Given the description of an element on the screen output the (x, y) to click on. 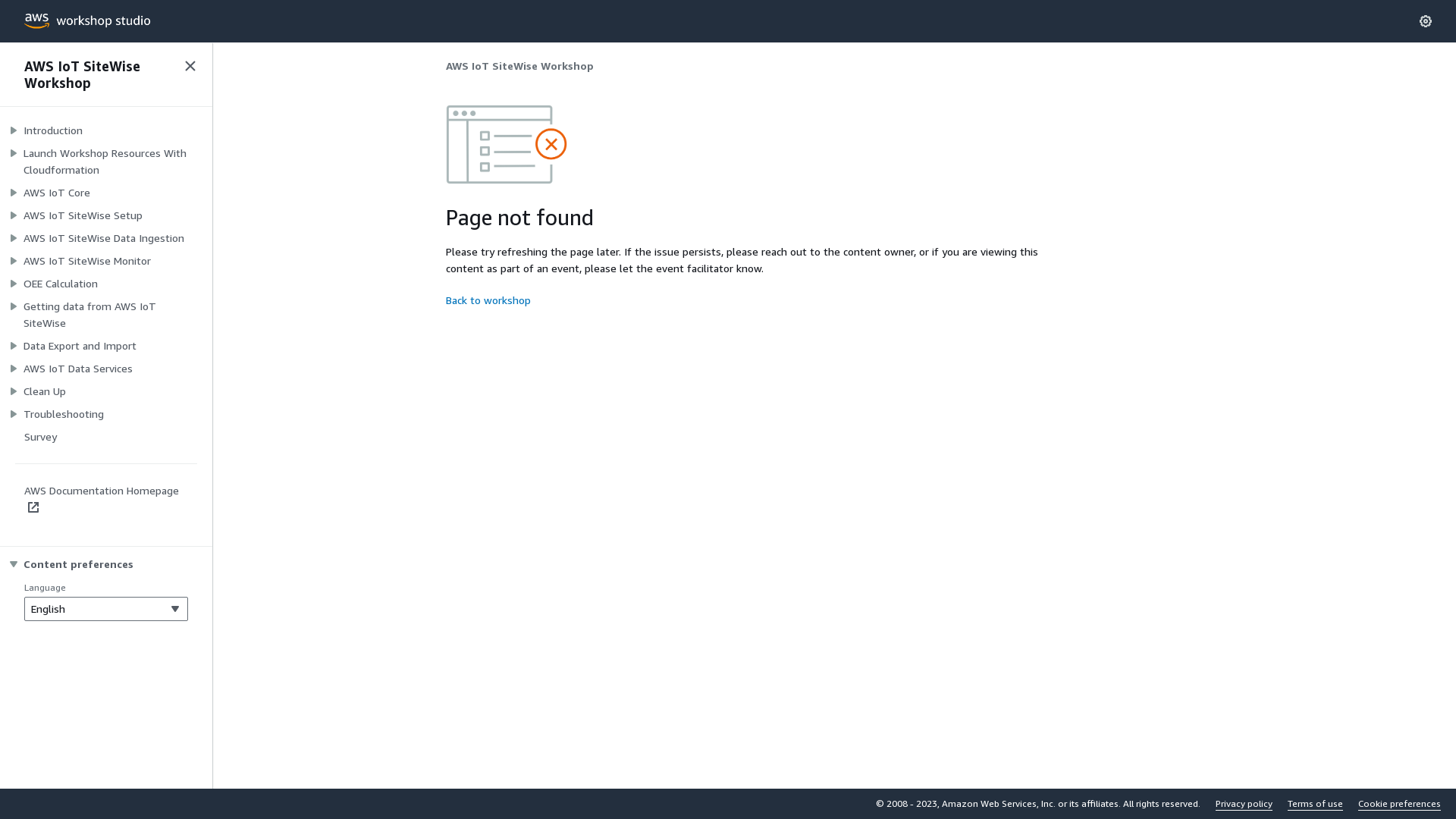
Data Export and Import Element type: text (79, 345)
Privacy policy Element type: text (1243, 803)
Survey Element type: text (40, 435)
Cookie preferences Element type: text (1399, 803)
Launch Workshop Resources With Cloudformation Element type: text (105, 161)
AWS IoT SiteWise Workshop Element type: text (96, 74)
AWS IoT SiteWise Monitor Element type: text (86, 260)
Getting data from AWS IoT SiteWise Element type: text (105, 314)
Back to workshop Element type: text (487, 299)
Clean Up Element type: text (44, 390)
AWS IoT SiteWise Setup Element type: text (82, 215)
Introduction Element type: text (52, 130)
English Element type: text (106, 608)
OEE Calculation Element type: text (60, 283)
AWS Documentation Homepage Element type: text (101, 498)
AWS IoT SiteWise Data Ingestion Element type: text (103, 237)
Terms of use Element type: text (1315, 803)
Troubleshooting Element type: text (63, 413)
AWS IoT Core Element type: text (56, 192)
AWS IoT Data Services Element type: text (77, 368)
